Given the description of an element on the screen output the (x, y) to click on. 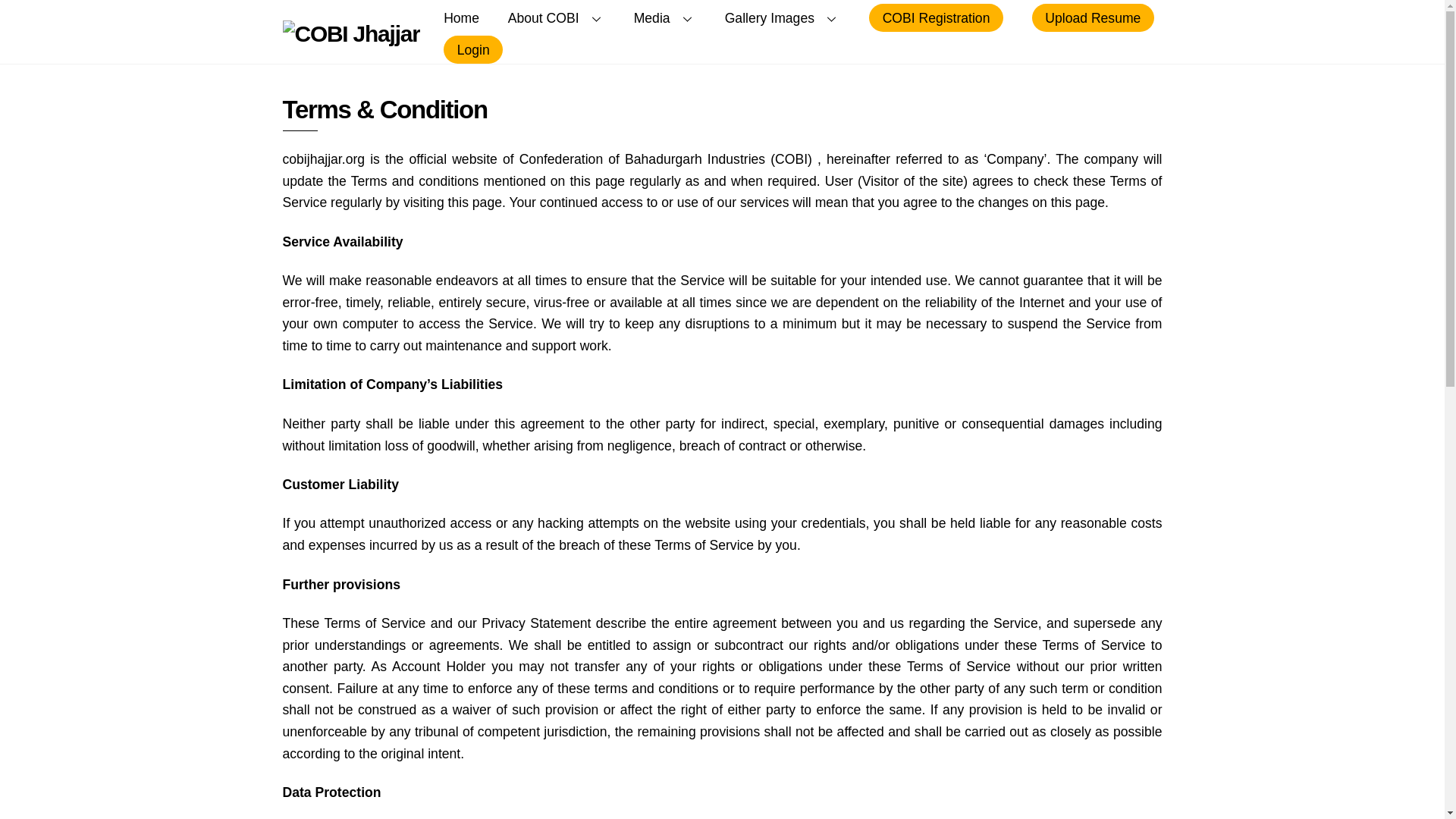
COBI Registration (936, 17)
Media (664, 18)
Gallery Images (782, 18)
Login (473, 49)
About COBI (555, 18)
Upload Resume (1093, 17)
Home (461, 18)
COBI Jhajjar (350, 33)
